Given the description of an element on the screen output the (x, y) to click on. 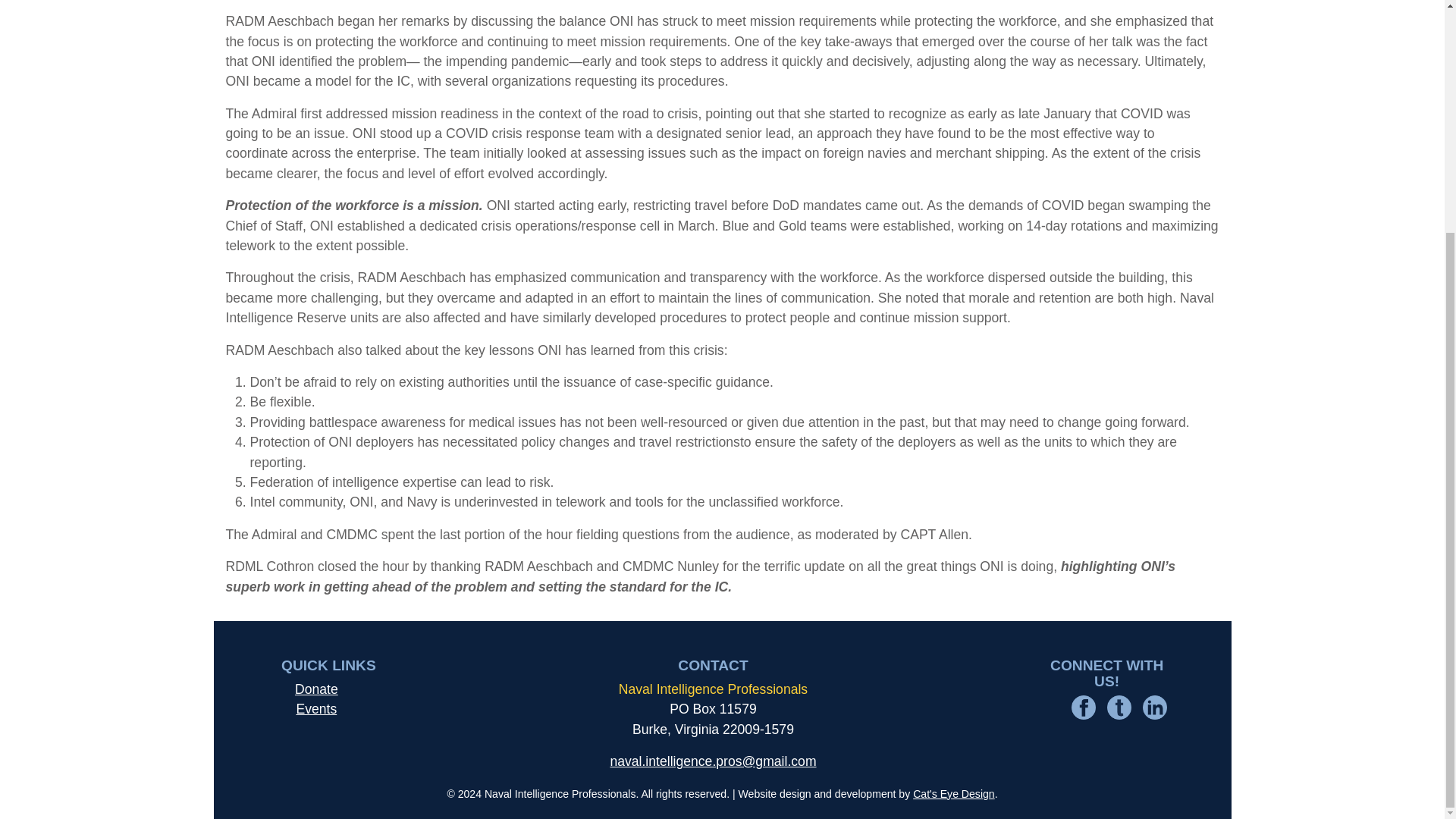
LinkedIn (1154, 706)
Twitter (1118, 706)
Facebook (1083, 706)
